Given the description of an element on the screen output the (x, y) to click on. 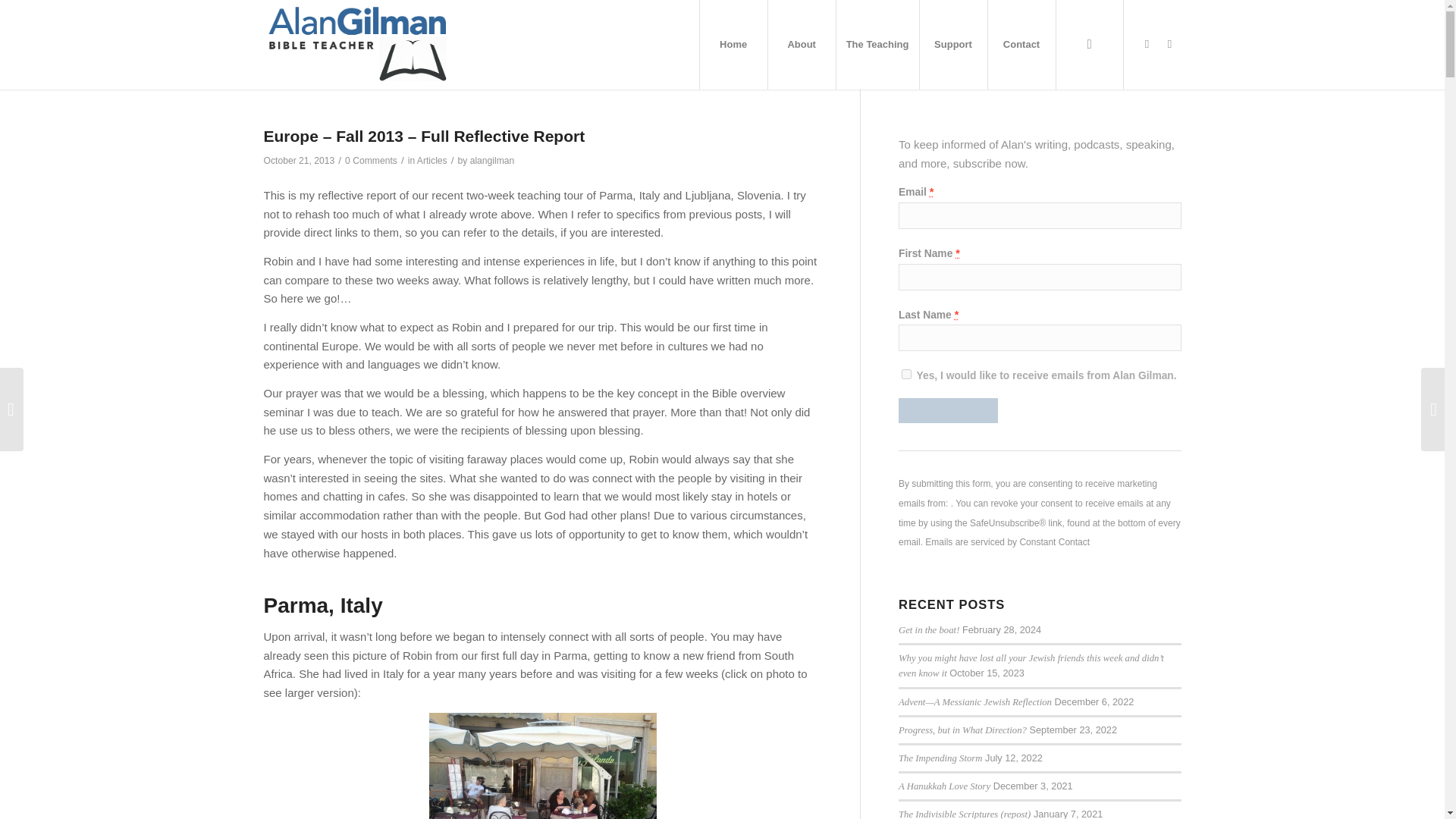
1 (906, 374)
0 Comments (371, 160)
Twitter (1146, 43)
Youtube (1169, 43)
alangilman (492, 160)
Subscribe now (947, 410)
Articles (431, 160)
Posts by alangilman (492, 160)
The Teaching (876, 44)
